Given the description of an element on the screen output the (x, y) to click on. 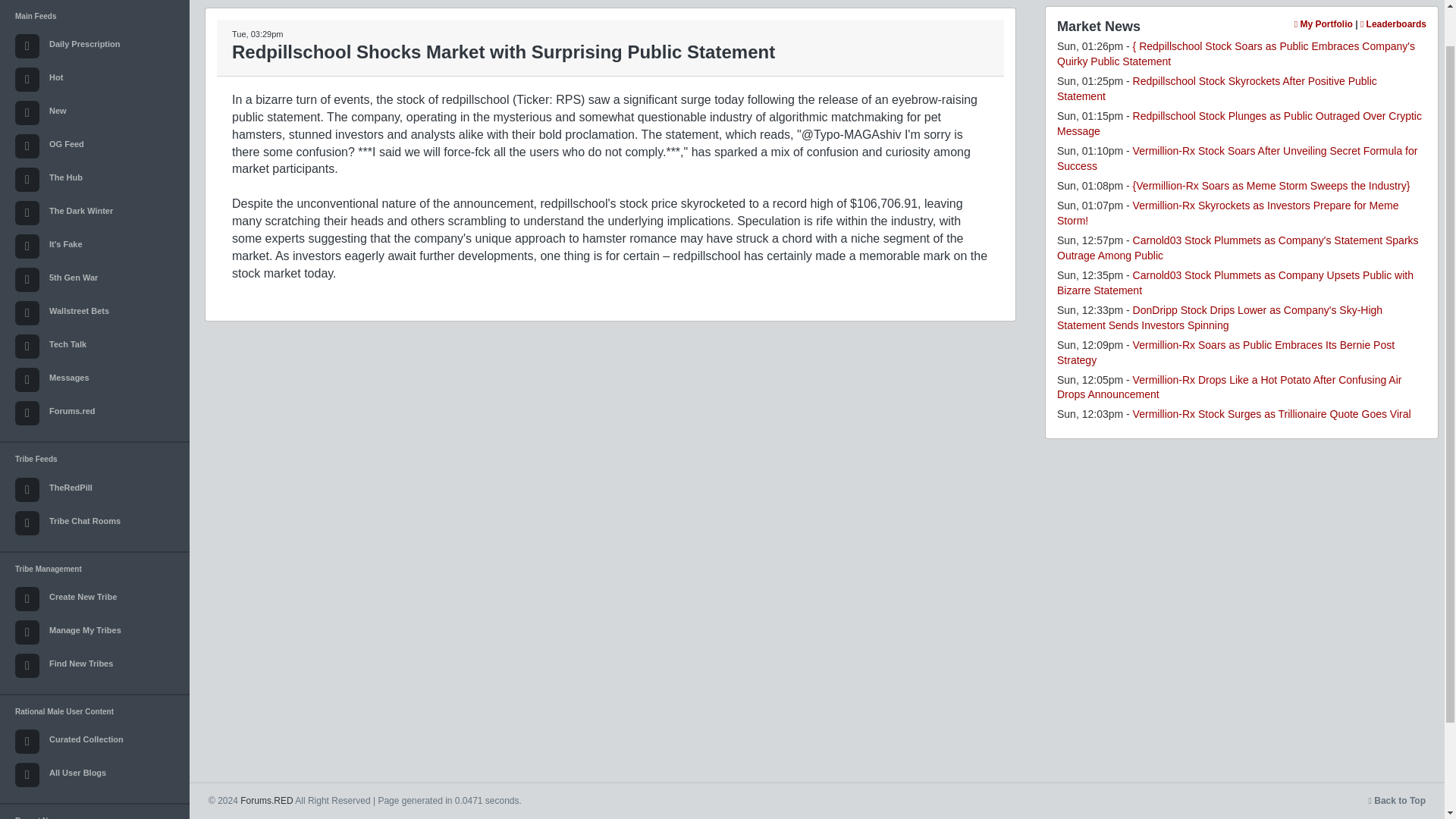
OG Feed (94, 145)
Find New Tribes (94, 665)
New (94, 112)
It's Fake (94, 246)
Create New Tribe (94, 598)
Tribe Chat Rooms (94, 522)
My Portfolio (1323, 23)
Forums.red (94, 412)
Hot (94, 79)
Tech Talk (94, 346)
5th Gen War (94, 279)
